Given the description of an element on the screen output the (x, y) to click on. 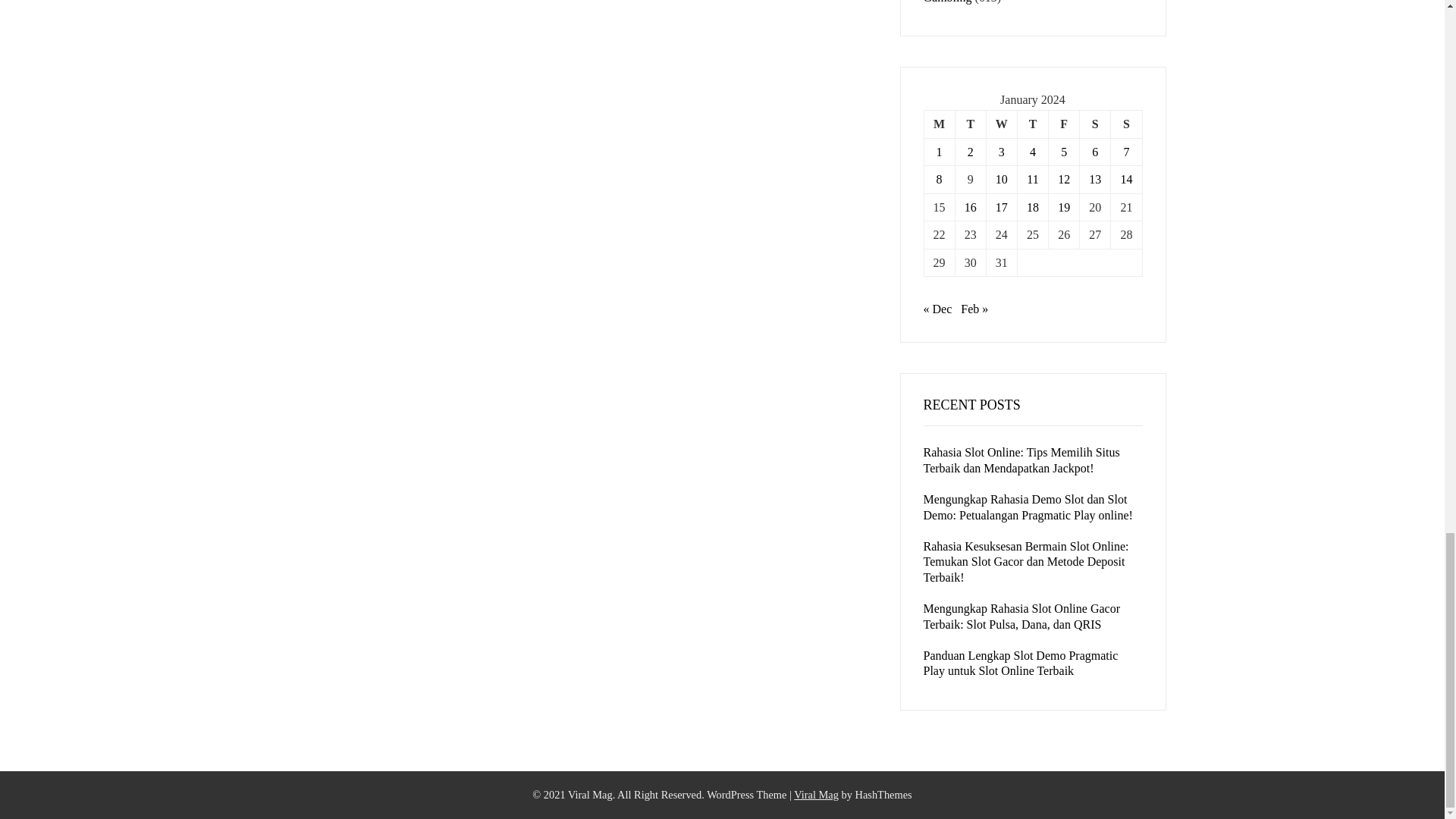
Tuesday (970, 123)
Friday (1064, 123)
Thursday (1032, 123)
Download Viral News (815, 794)
Sunday (1125, 123)
Monday (939, 123)
Saturday (1095, 123)
Wednesday (1000, 123)
